Given the description of an element on the screen output the (x, y) to click on. 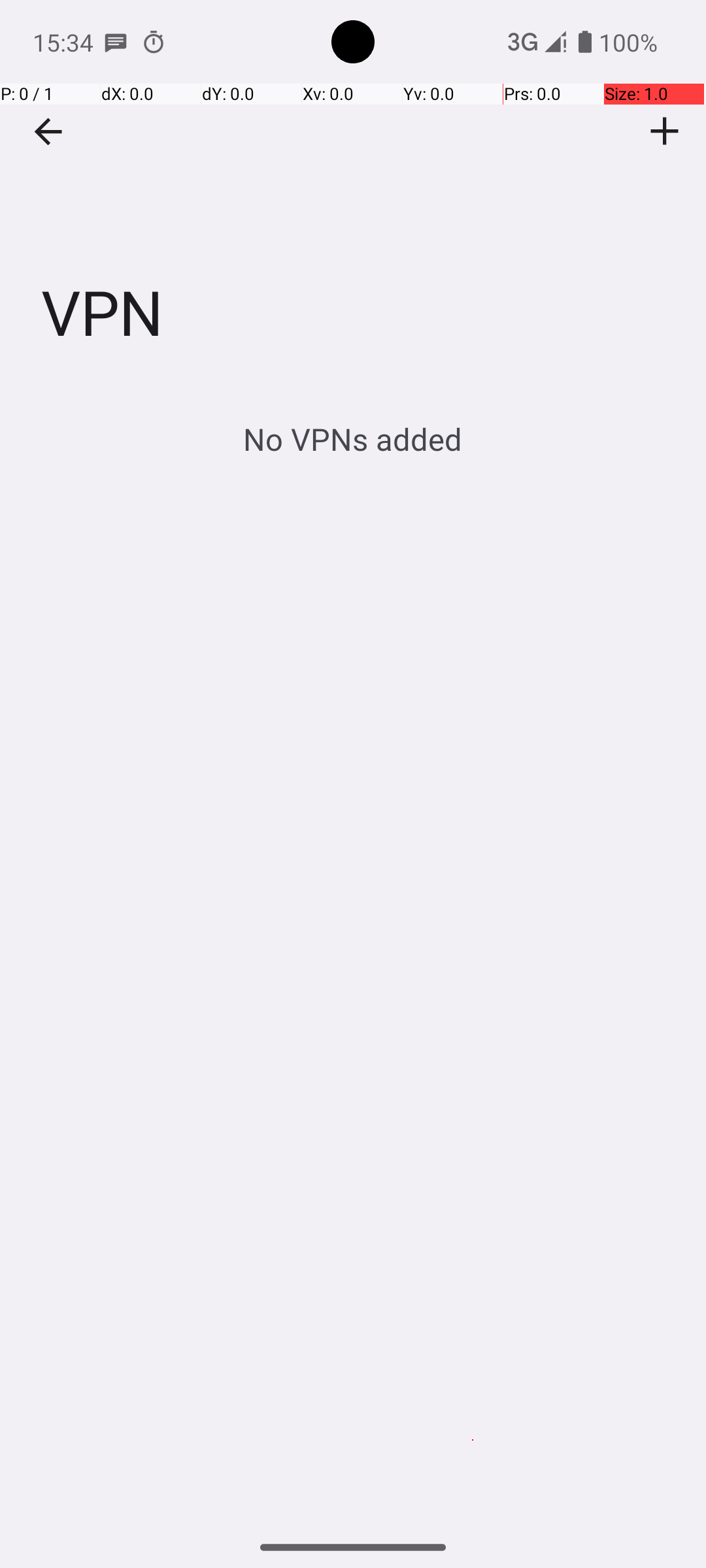
No VPNs added Element type: android.widget.TextView (352, 438)
Add VPN profile Element type: android.widget.TextView (664, 131)
